Given the description of an element on the screen output the (x, y) to click on. 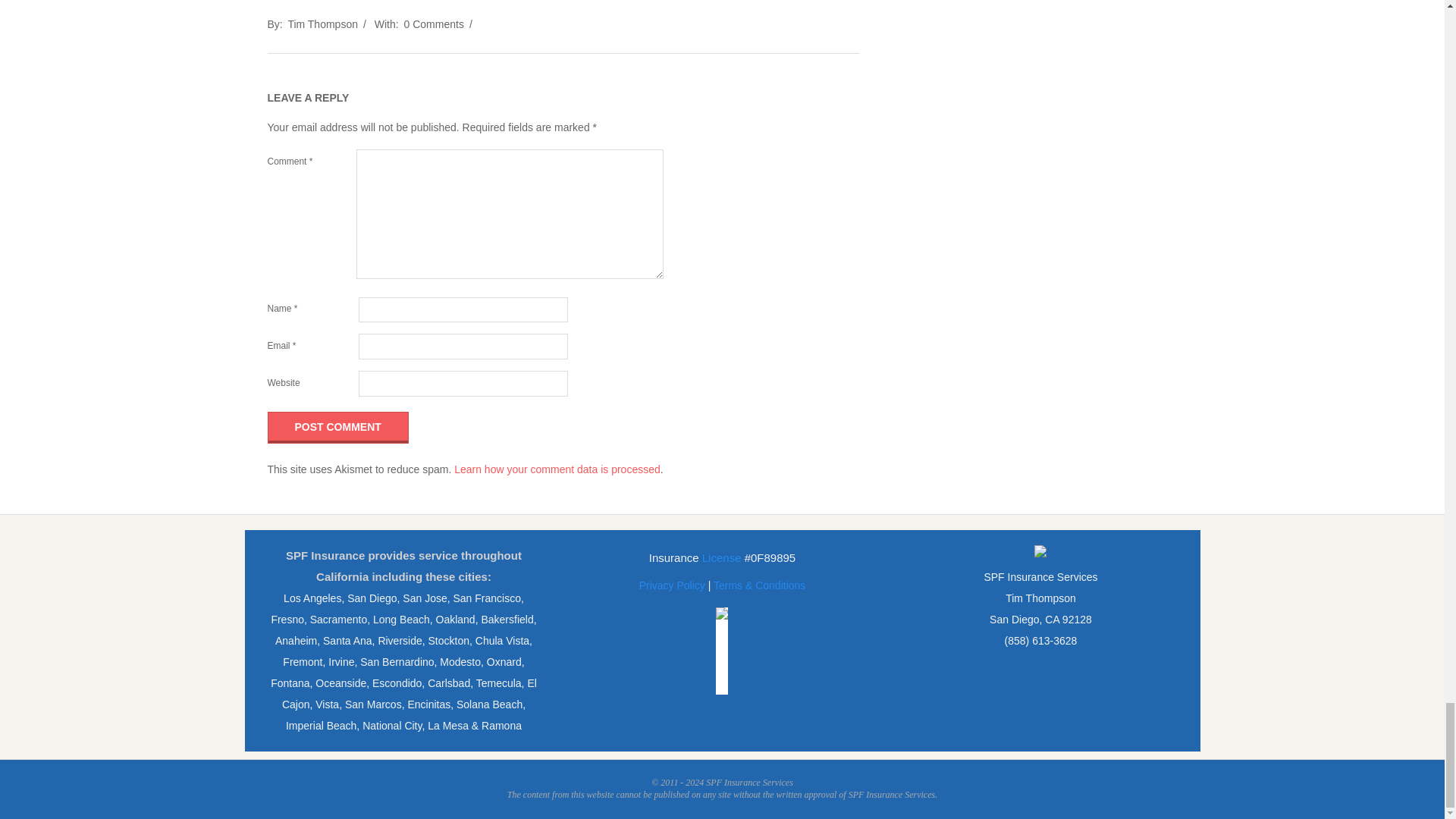
Post Comment (336, 427)
